Given the description of an element on the screen output the (x, y) to click on. 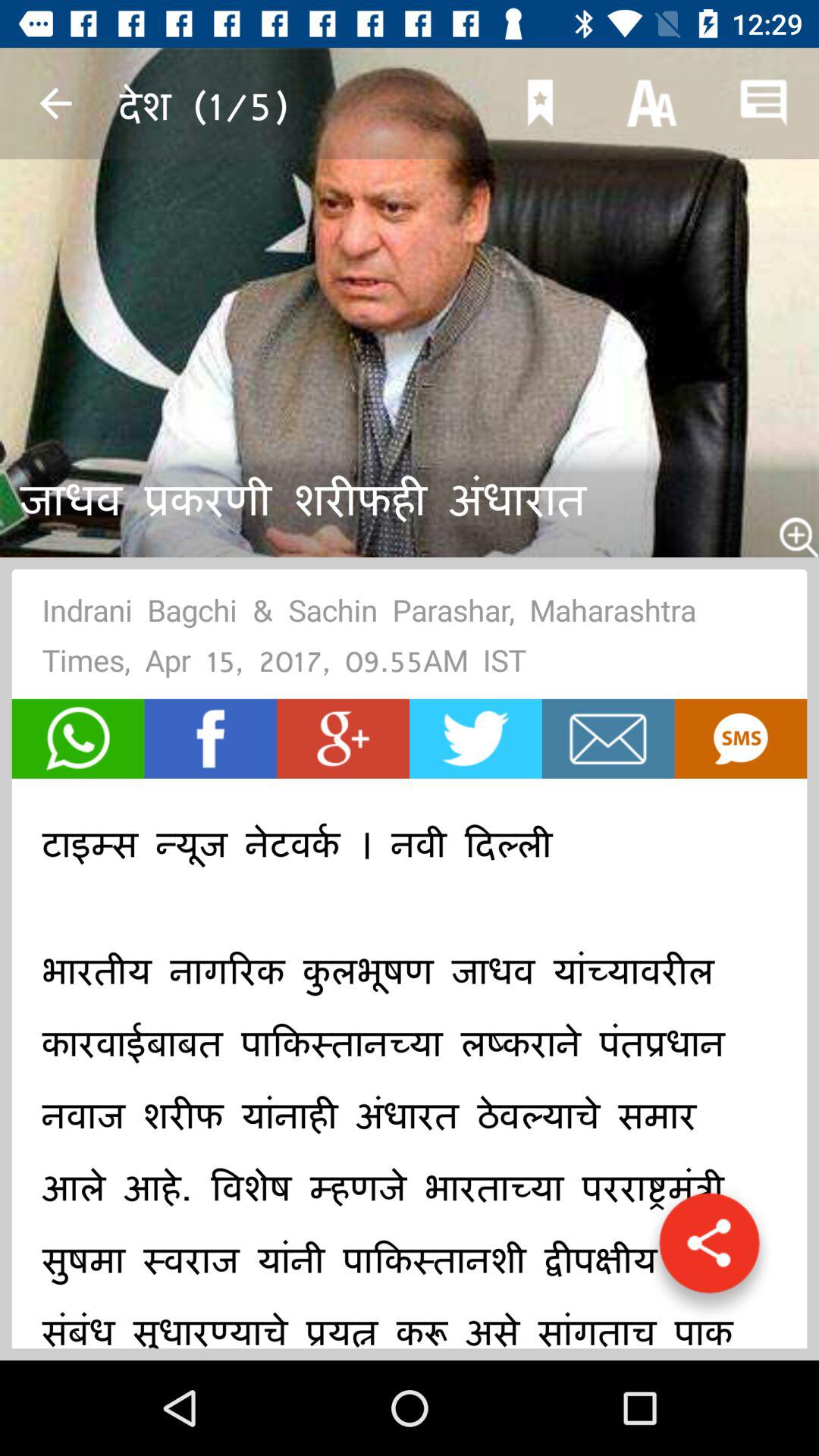
text article (740, 738)
